Given the description of an element on the screen output the (x, y) to click on. 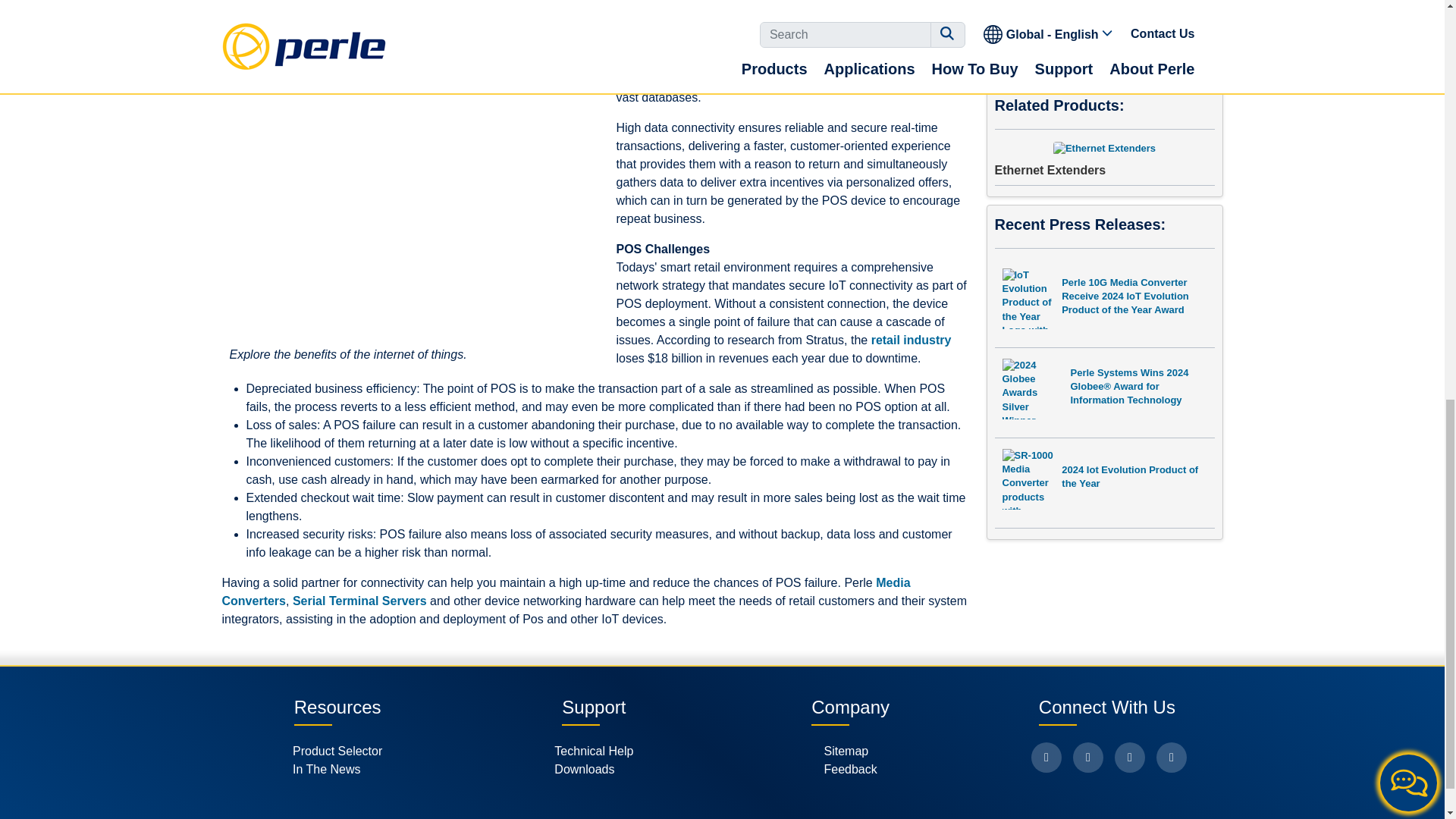
Technical Help (593, 751)
Media Converters (565, 591)
Serial Terminal Servers (359, 600)
Facebook (1045, 757)
Rss Feed (1171, 757)
In The News (336, 769)
twiter (1088, 757)
Sitemap (850, 751)
Feedback (850, 769)
retail industry (911, 339)
